Given the description of an element on the screen output the (x, y) to click on. 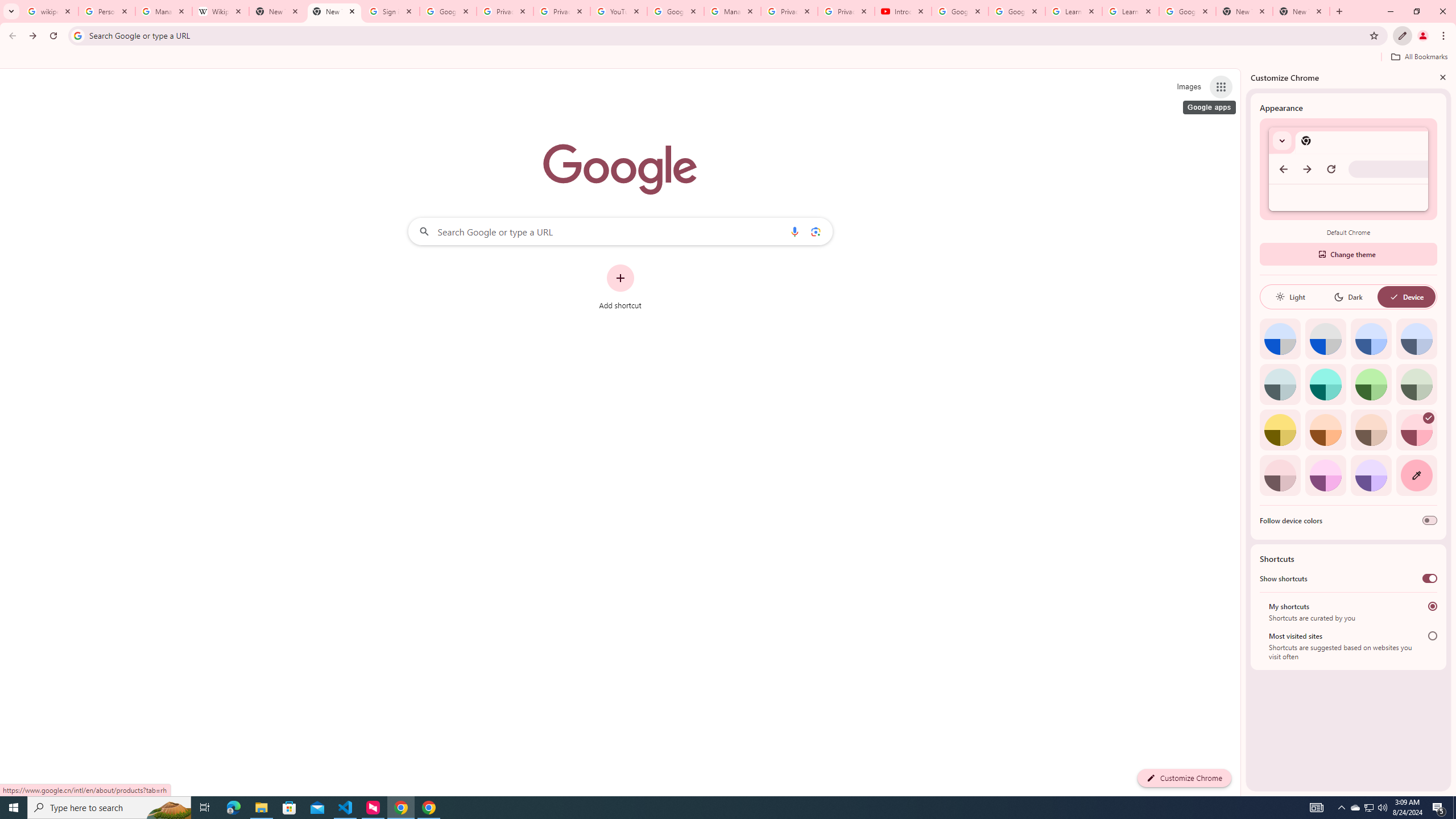
YouTube (618, 11)
Custom color (1416, 475)
Most visited sites (1432, 635)
Follow device colors (1429, 519)
Manage your Location History - Google Search Help (163, 11)
Apricot (1371, 429)
Bookmarks (728, 58)
Personalization & Google Search results - Google Search Help (105, 11)
Orange (1325, 429)
